Given the description of an element on the screen output the (x, y) to click on. 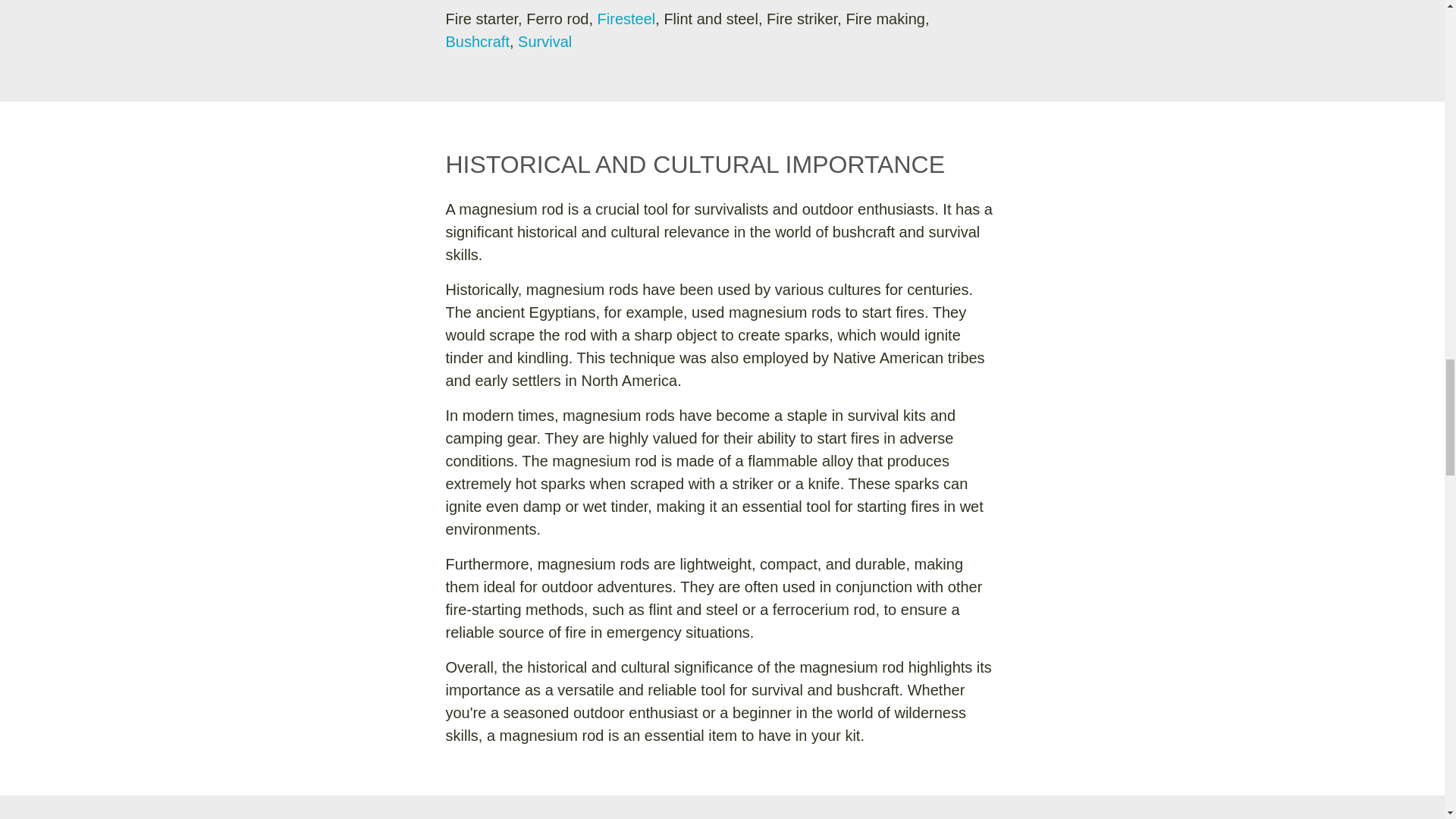
Survival (545, 41)
Firesteel (626, 18)
Bushcraft (477, 41)
